Given the description of an element on the screen output the (x, y) to click on. 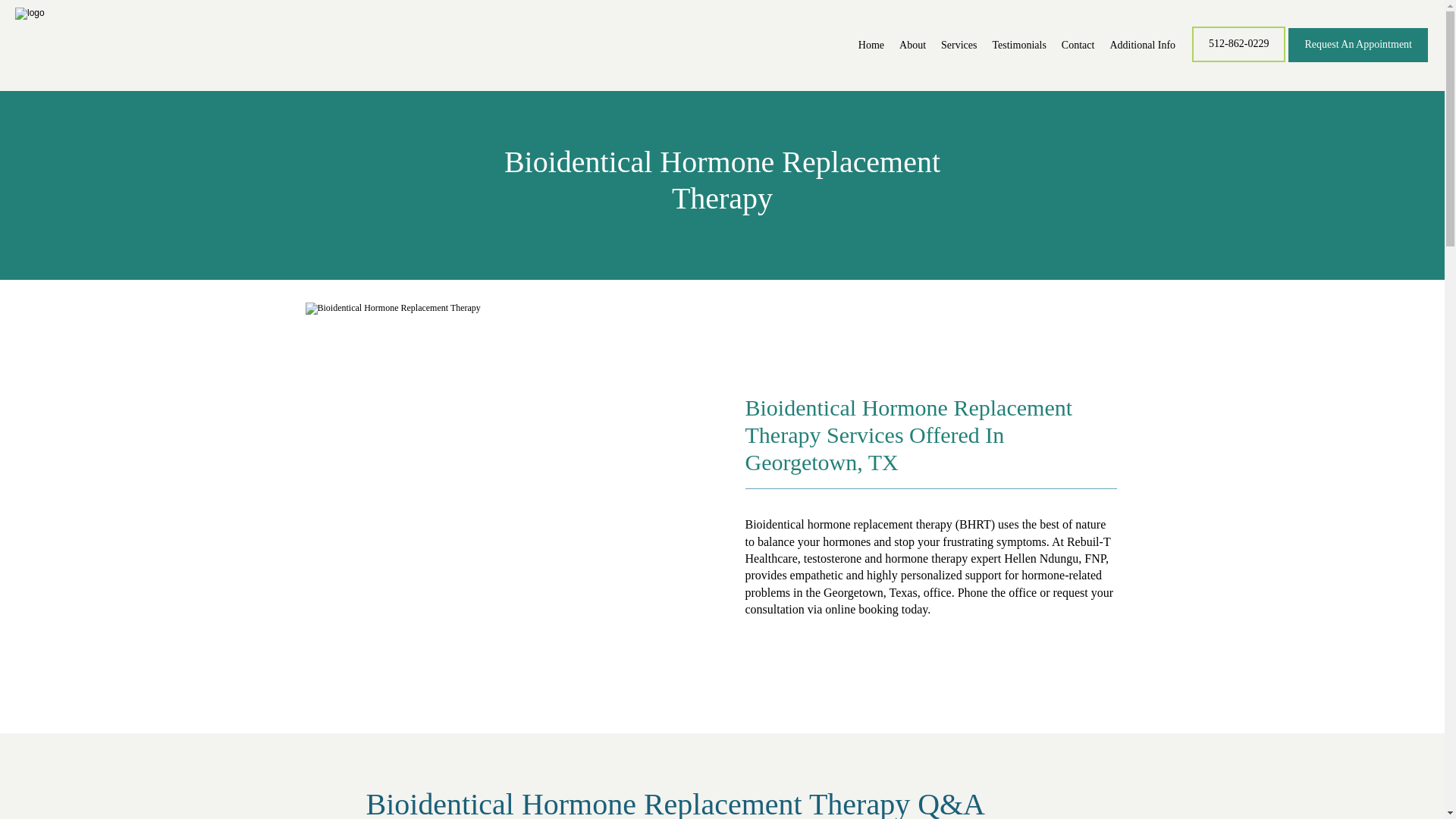
Contact (1077, 44)
Services (958, 44)
About (912, 44)
512-862-0229 (1239, 60)
Request An Appointment (1358, 60)
Home (871, 44)
Testimonials (1018, 44)
